Given the description of an element on the screen output the (x, y) to click on. 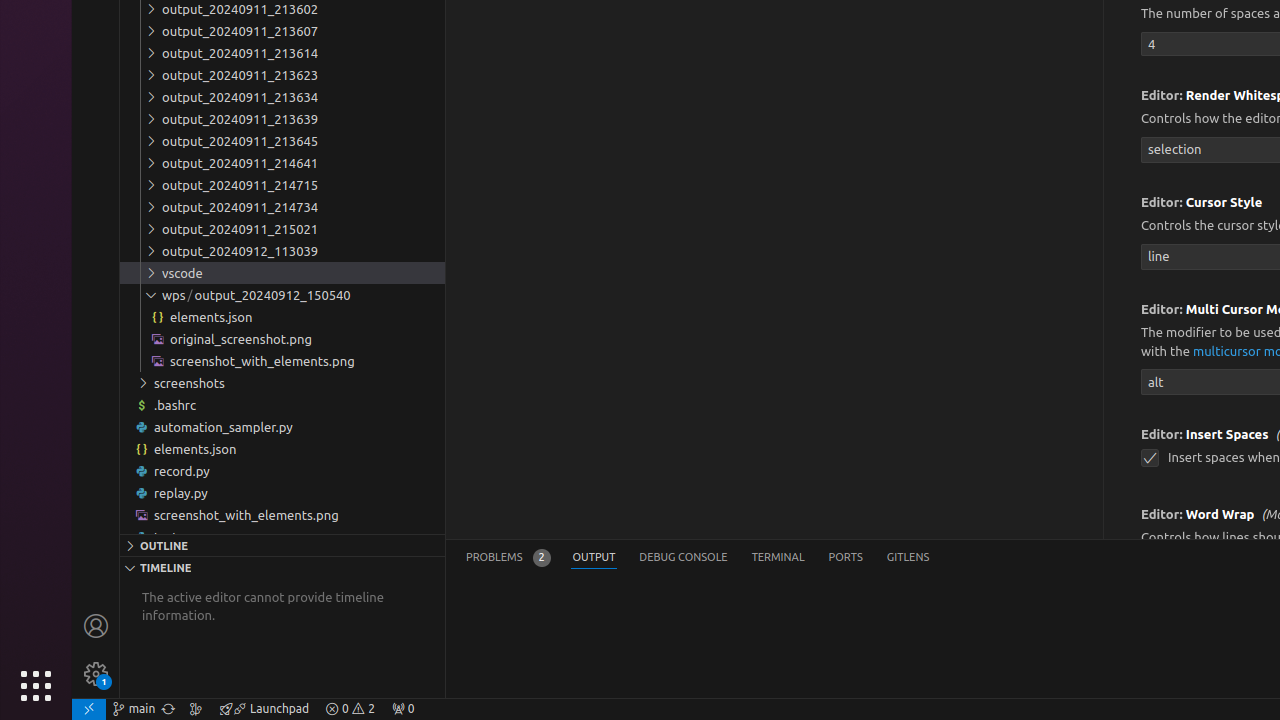
output_20240911_214715 Element type: tree-item (282, 184)
output_20240911_213607 Element type: tree-item (282, 31)
OSWorld (Git) - main, Checkout Branch/Tag... Element type: push-button (134, 709)
vscode Element type: tree-item (282, 273)
Debug Console (Ctrl+Shift+Y) Element type: page-tab (683, 557)
